Given the description of an element on the screen output the (x, y) to click on. 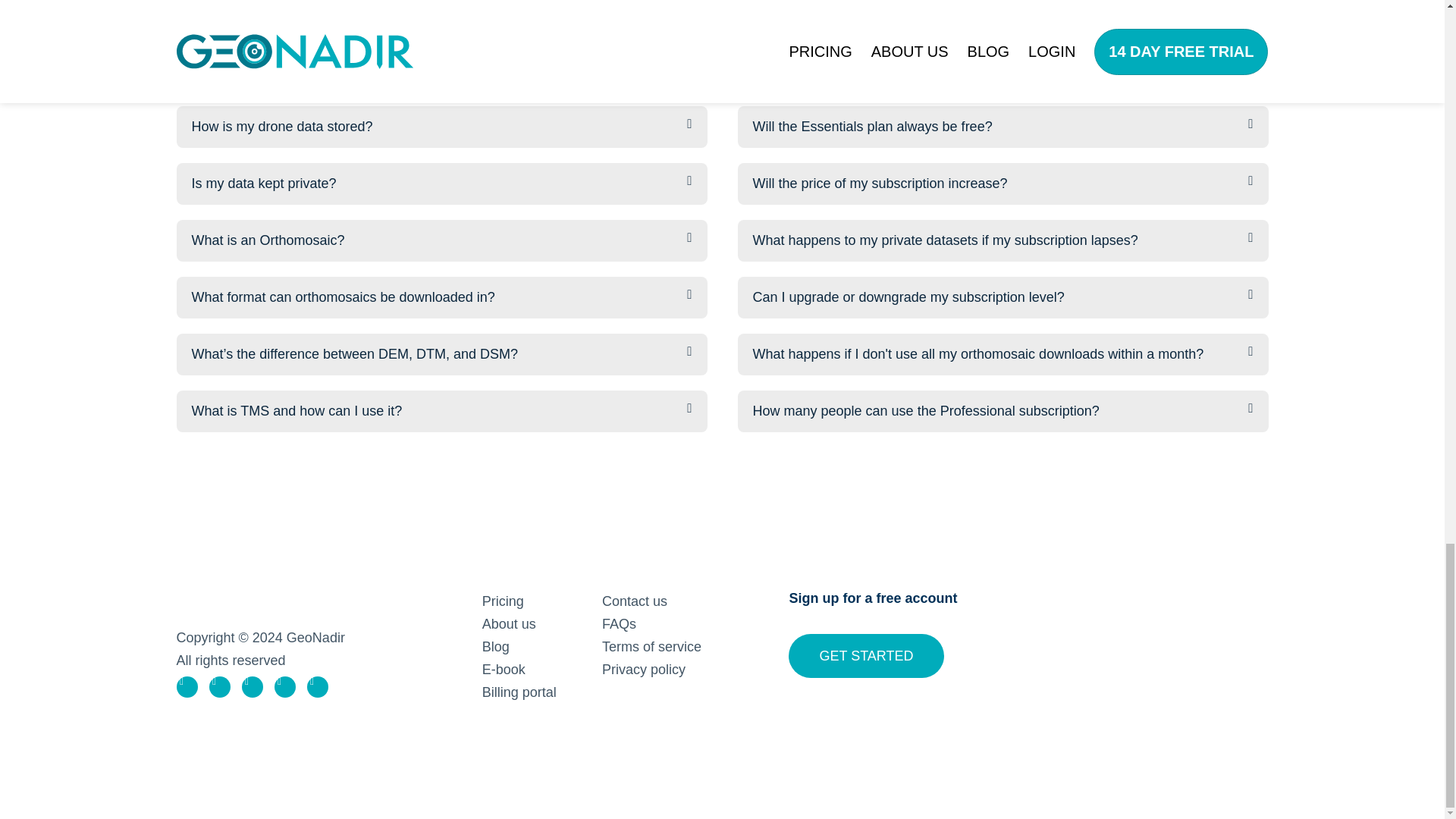
What format can orthomosaics be downloaded in? (342, 296)
How is my drone data stored? (281, 126)
Will the Essentials plan always be free? (871, 126)
Is my data kept private? (263, 183)
What is TMS and how can I use it? (295, 410)
Do you offer free trials for paid subscription? (886, 69)
Will the price of my subscription increase? (879, 183)
Will I be charged to download my own data? (324, 69)
What is an Orthomosaic? (266, 240)
